Given the description of an element on the screen output the (x, y) to click on. 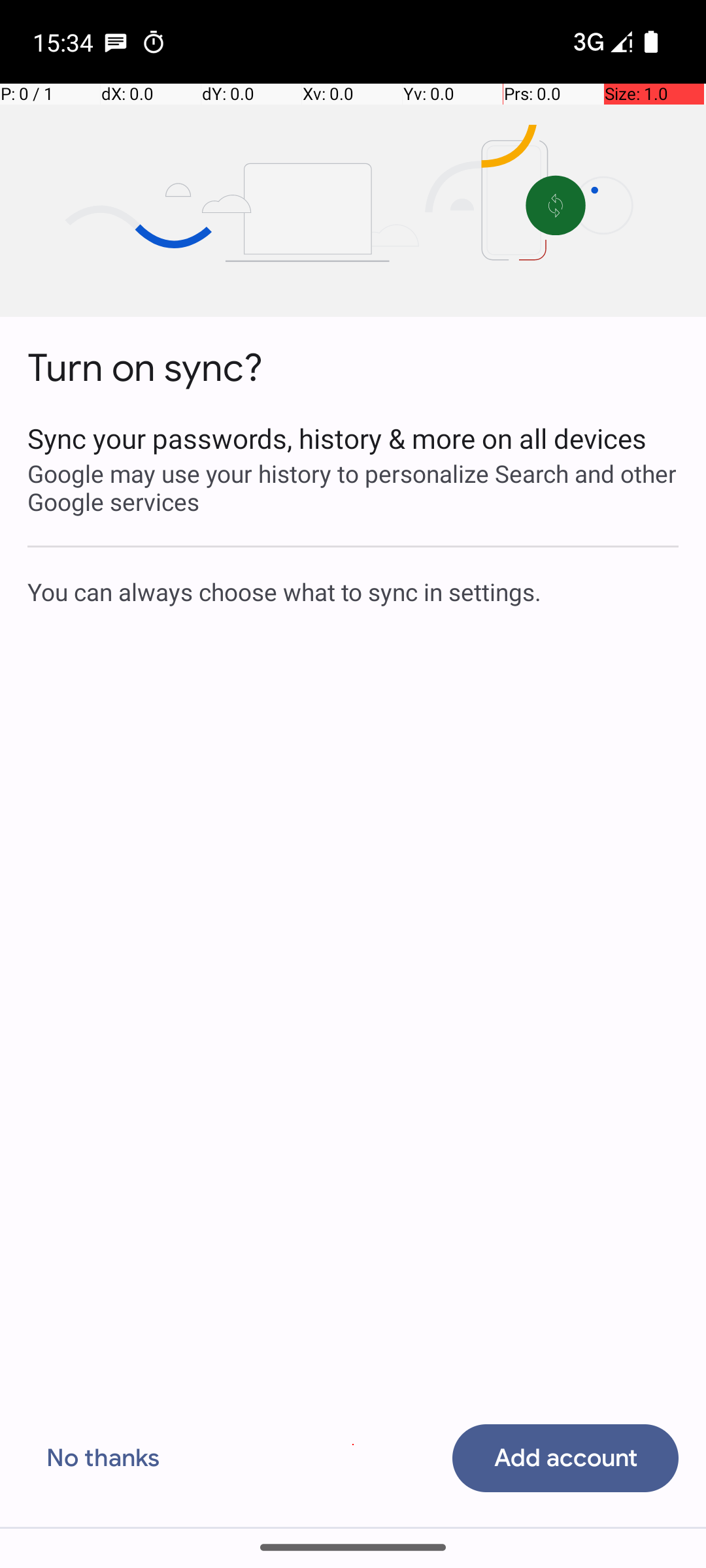
SMS Messenger notification: Freya Hernandez Element type: android.widget.ImageView (115, 41)
